Given the description of an element on the screen output the (x, y) to click on. 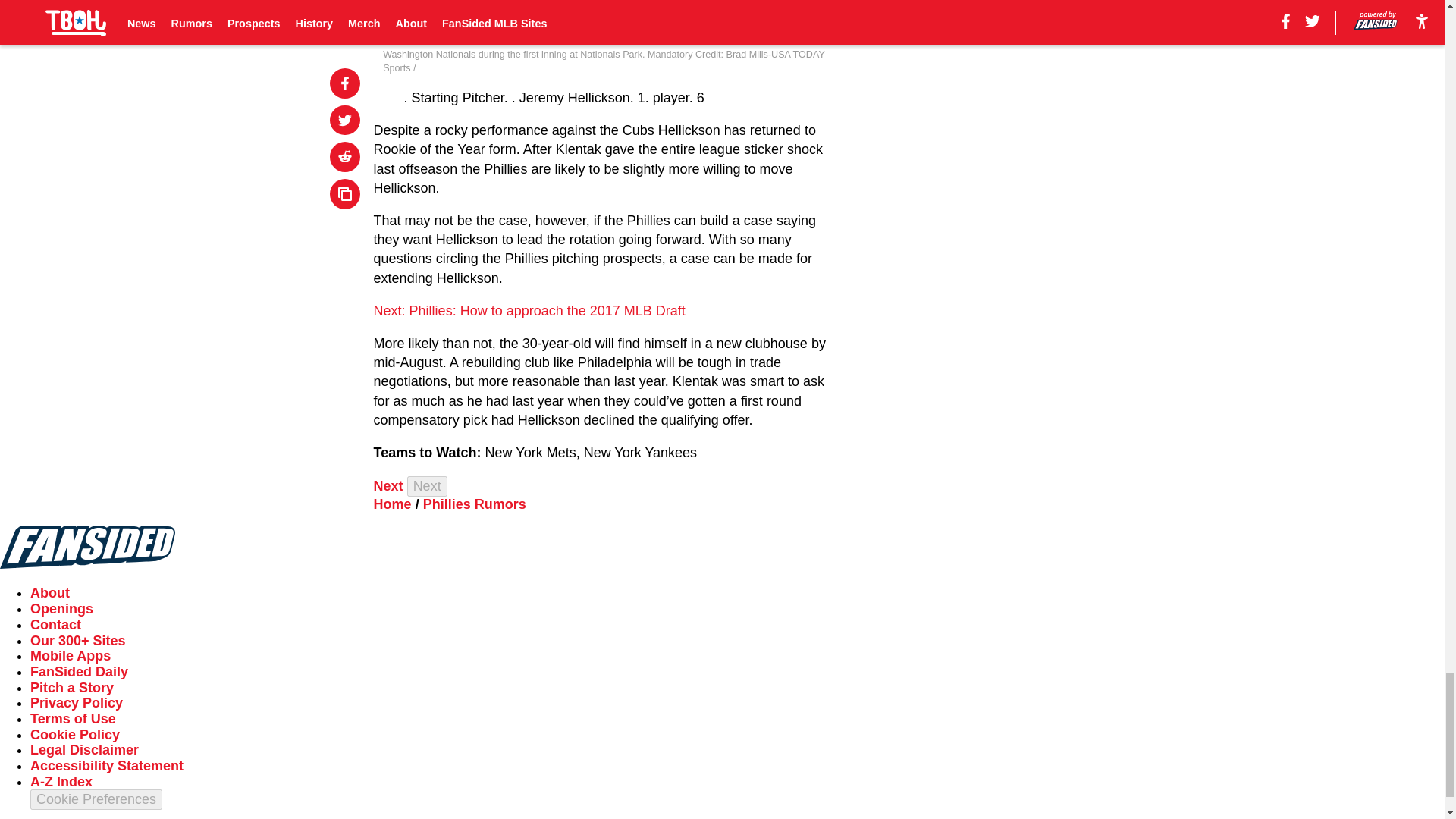
Home (393, 503)
About (49, 592)
Phillies Rumors (474, 503)
Next (388, 485)
Next: Phillies: How to approach the 2017 MLB Draft (529, 310)
Next (426, 485)
